Given the description of an element on the screen output the (x, y) to click on. 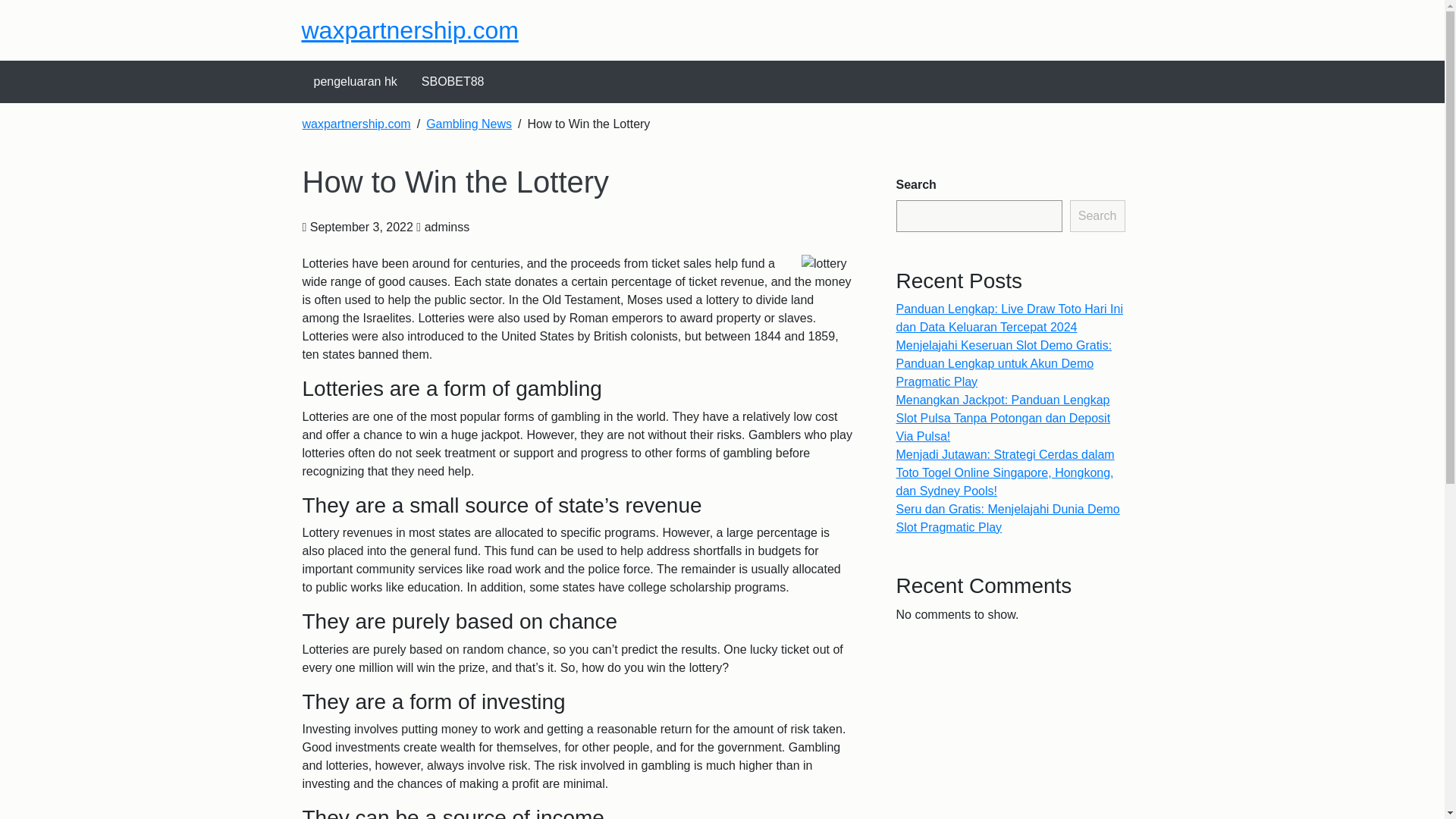
waxpartnership.com (409, 30)
SBOBET88 (452, 81)
Search (1097, 215)
Gambling News (469, 123)
SBOBET88 (452, 81)
pengeluaran hk (355, 81)
pengeluaran hk (355, 81)
